Given the description of an element on the screen output the (x, y) to click on. 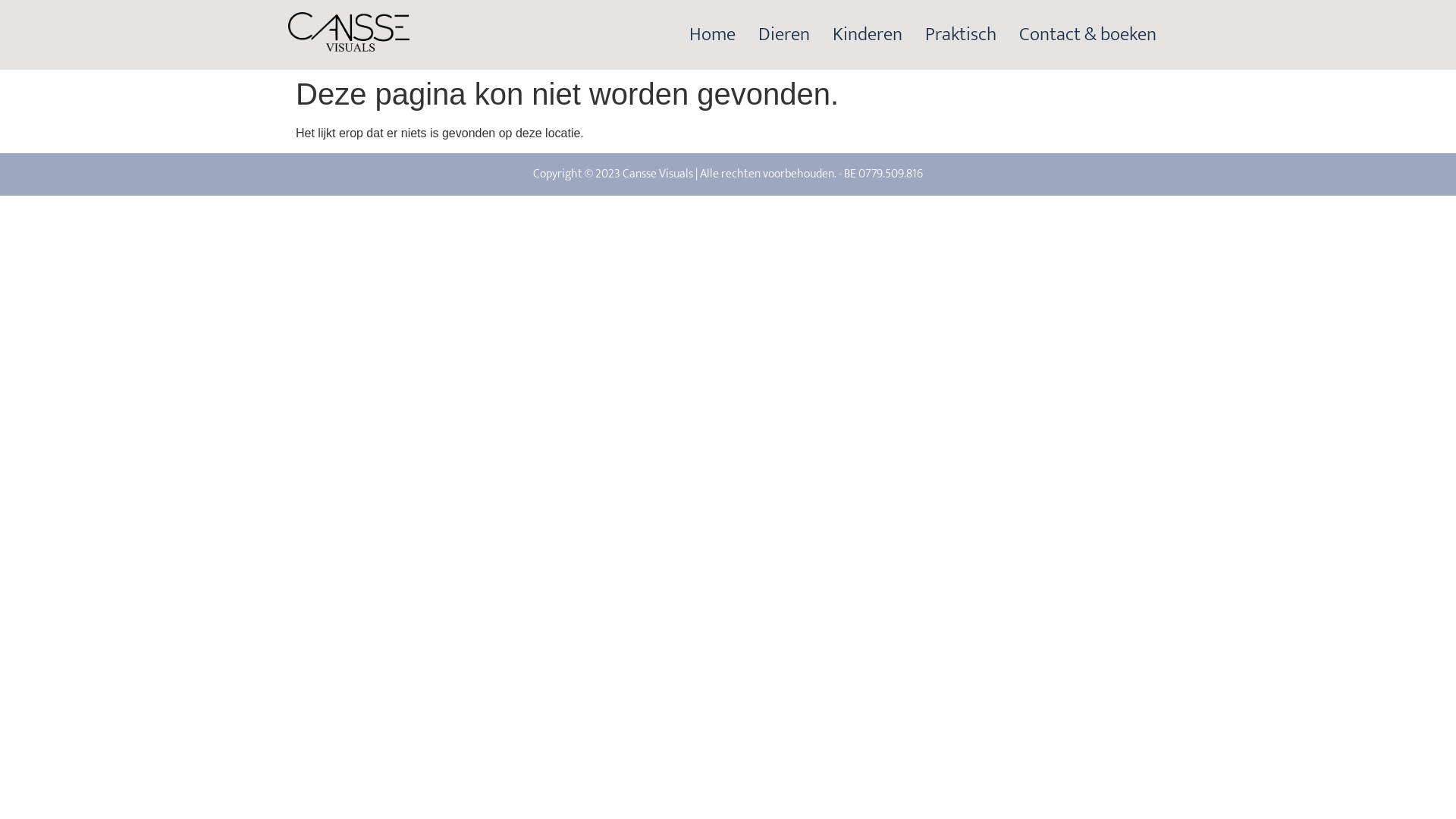
Contact & boeken Element type: text (1087, 34)
Kinderen Element type: text (867, 34)
Dieren Element type: text (783, 34)
Home Element type: text (711, 34)
Praktisch Element type: text (960, 34)
